Given the description of an element on the screen output the (x, y) to click on. 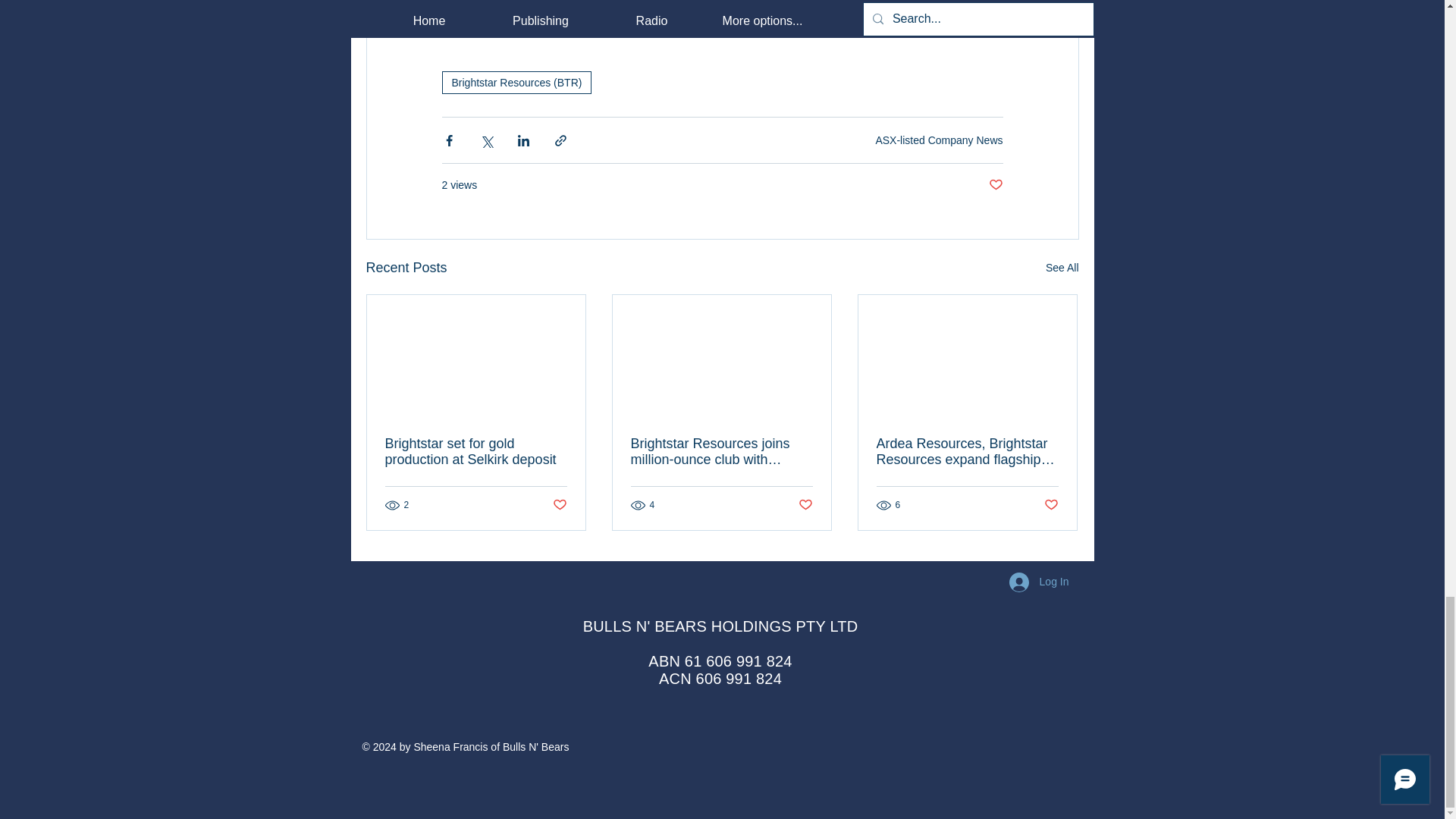
Brightstar set for gold production at Selkirk deposit (476, 451)
ASX-listed Company News (939, 140)
Post not marked as liked (558, 505)
Post not marked as liked (995, 185)
Post not marked as liked (804, 505)
See All (1061, 268)
